Given the description of an element on the screen output the (x, y) to click on. 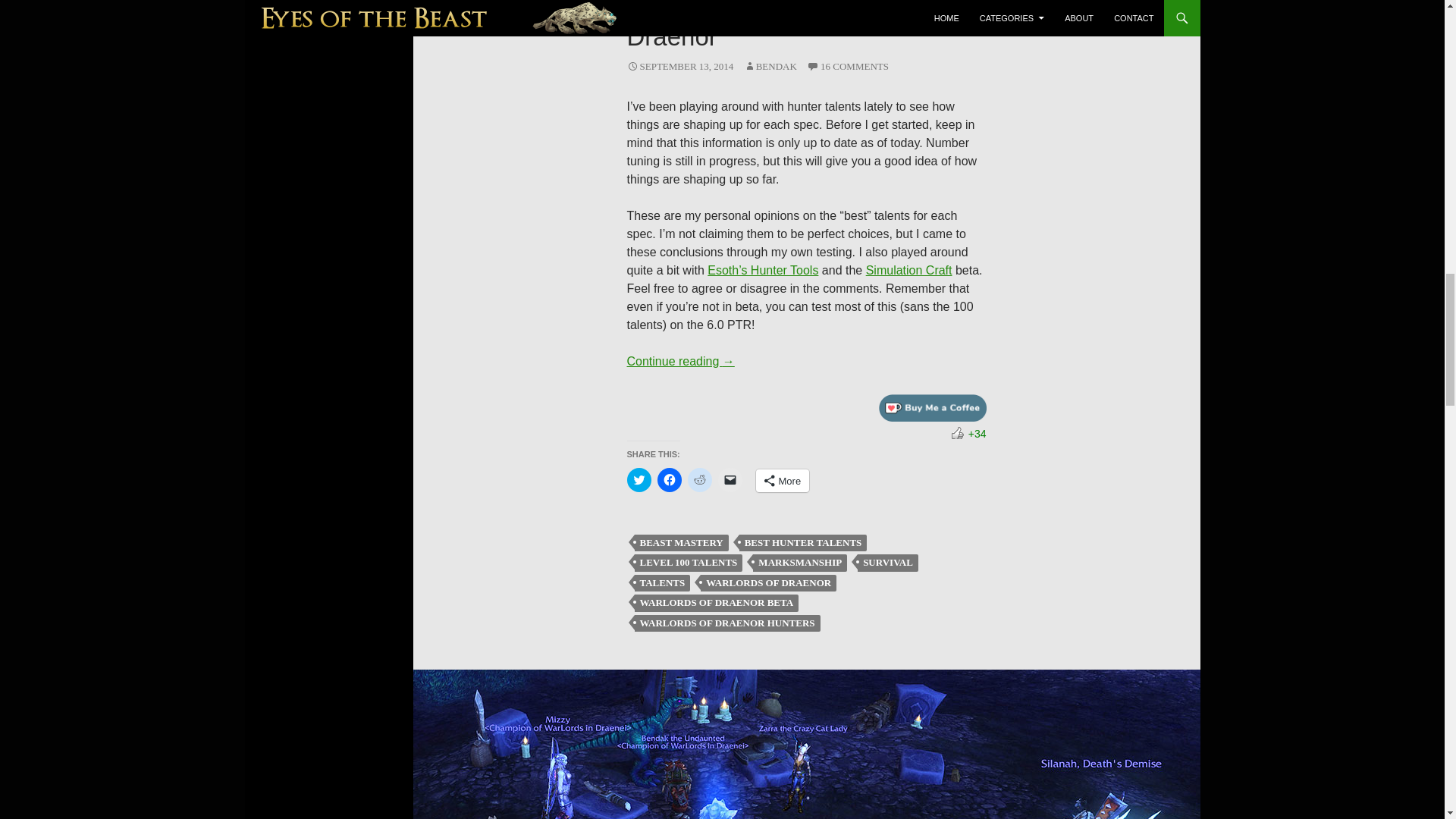
Click to share on Reddit (699, 479)
Click to email a link to a friend (729, 479)
Click to share on Facebook (668, 479)
Hunter Approved! (957, 432)
Click to share on Twitter (638, 479)
